Given the description of an element on the screen output the (x, y) to click on. 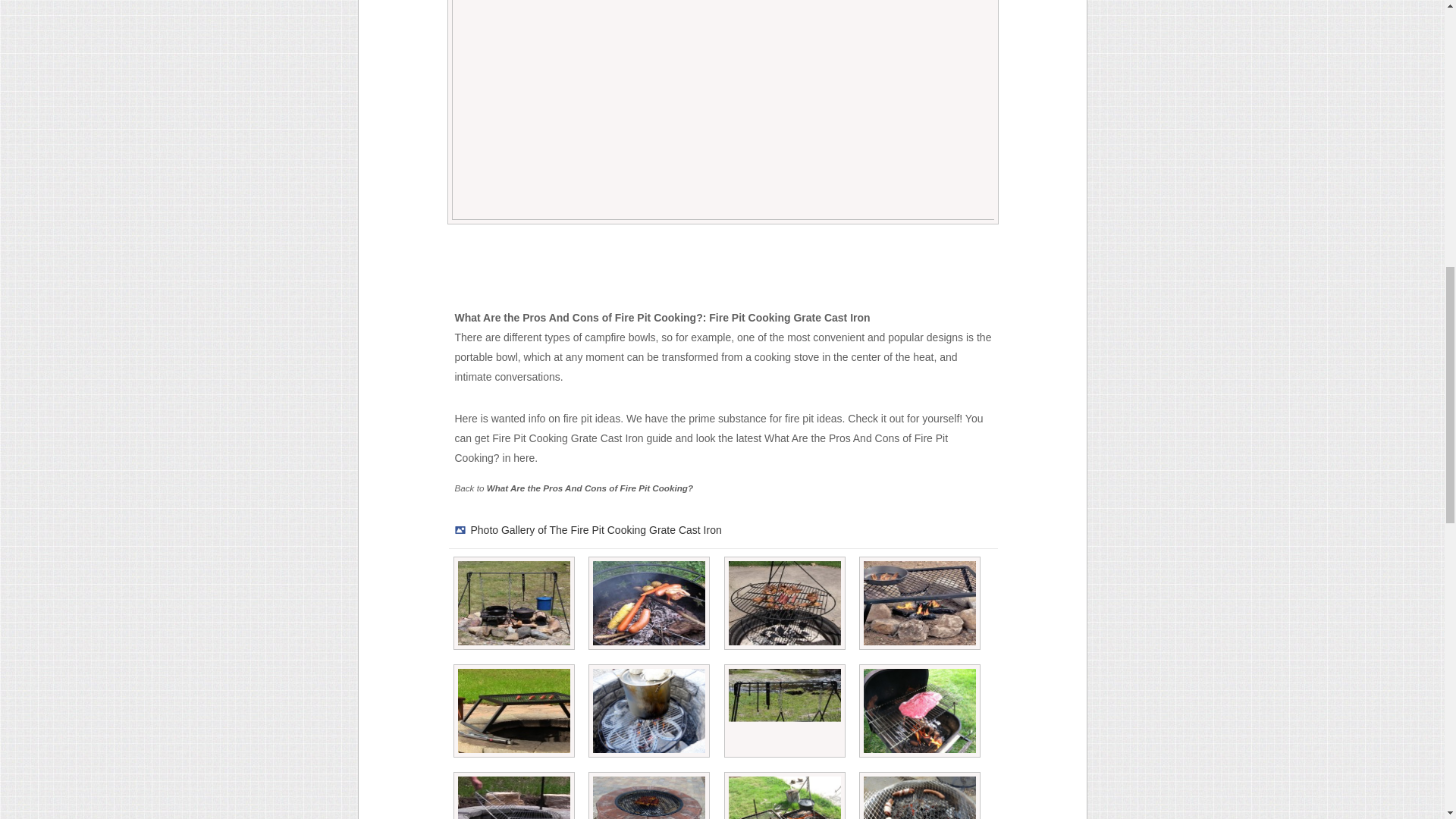
here (523, 458)
Return to What Are the Pros And Cons of Fire Pit Cooking? (589, 488)
What Are the Pros And Cons of Fire Pit Cooking? (589, 488)
